Given the description of an element on the screen output the (x, y) to click on. 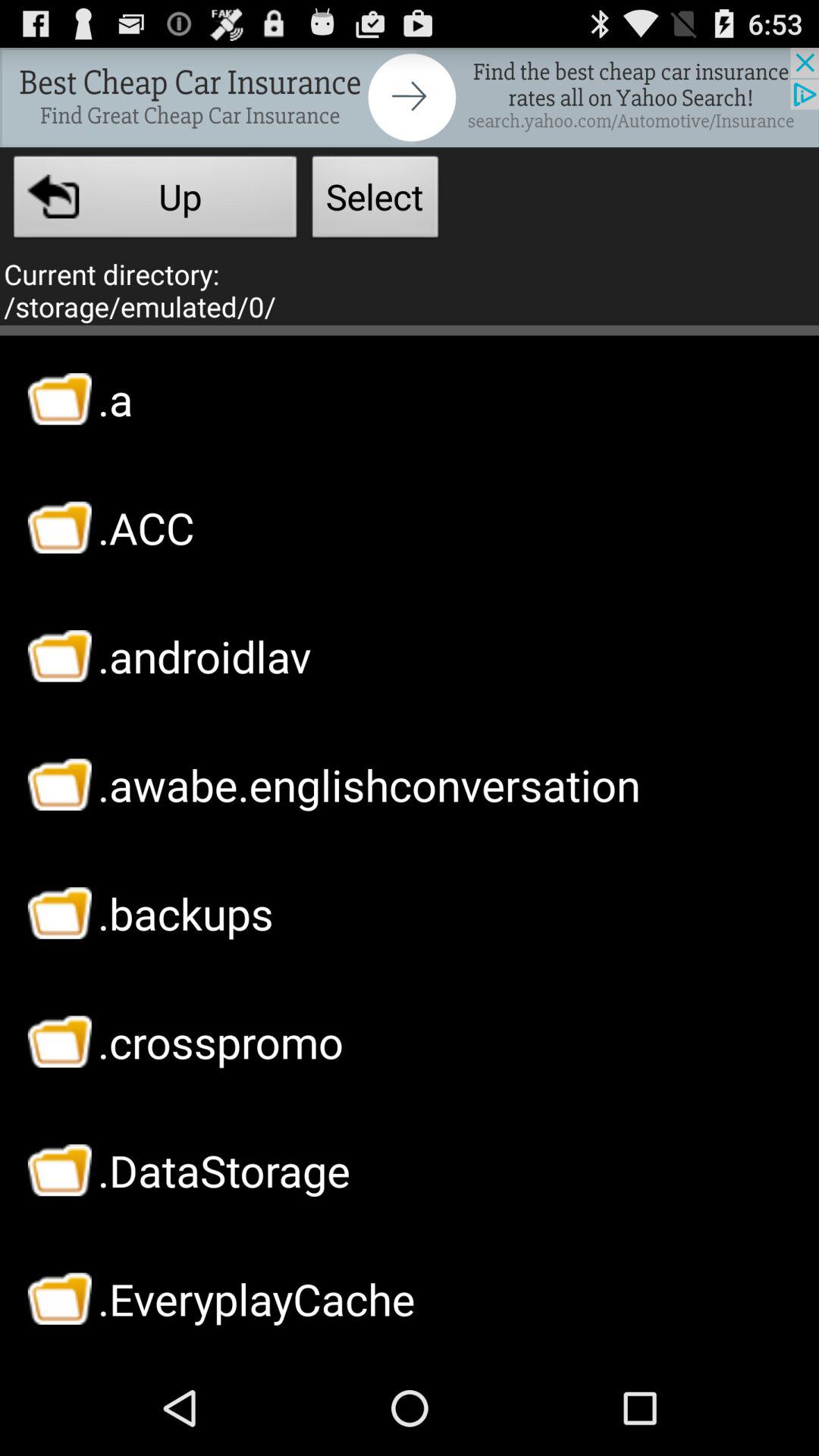
opens a advertisement (409, 97)
